Given the description of an element on the screen output the (x, y) to click on. 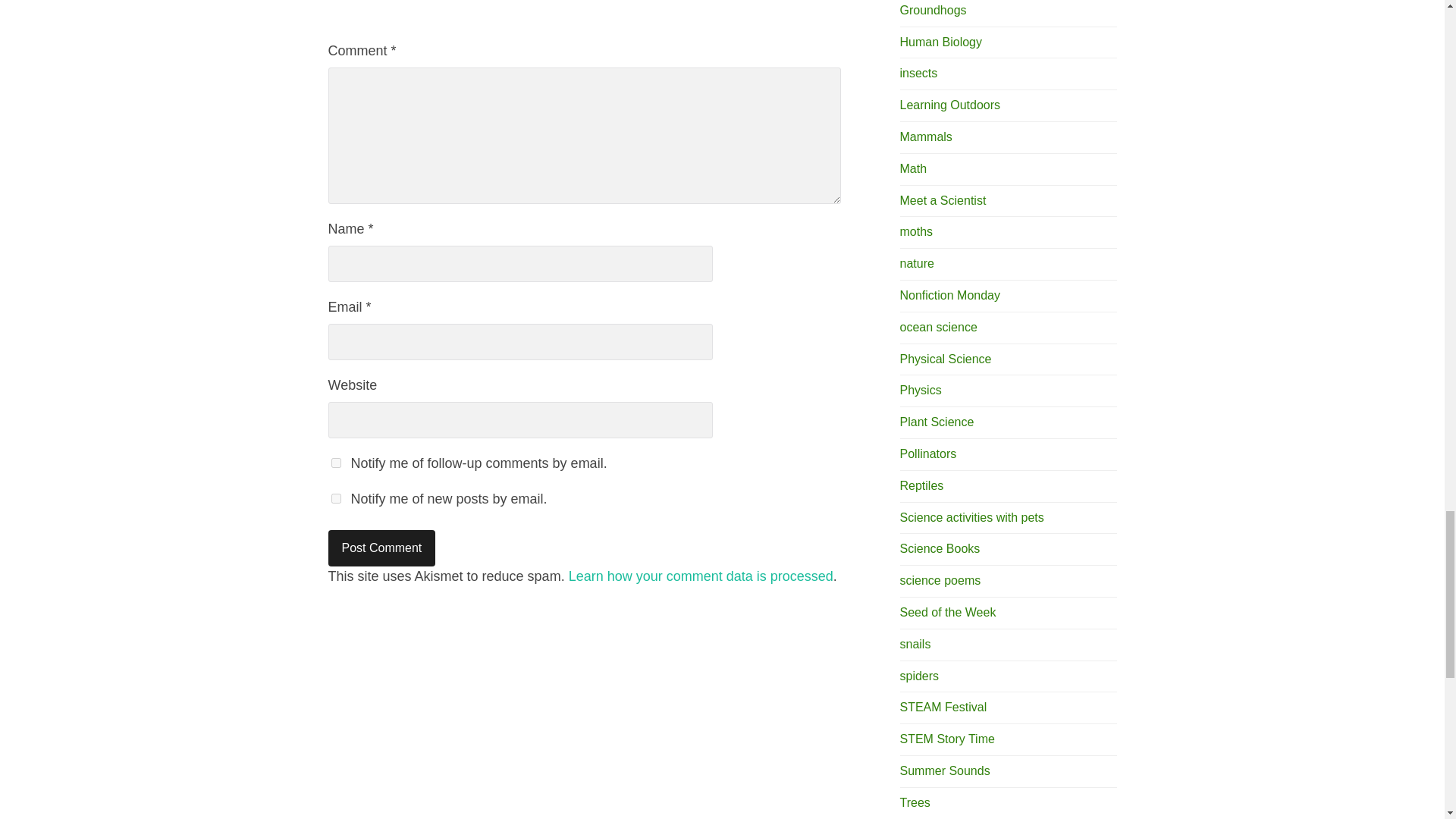
subscribe (335, 498)
Post Comment (381, 547)
subscribe (335, 462)
Post Comment (381, 547)
Learn how your comment data is processed (700, 575)
